Given the description of an element on the screen output the (x, y) to click on. 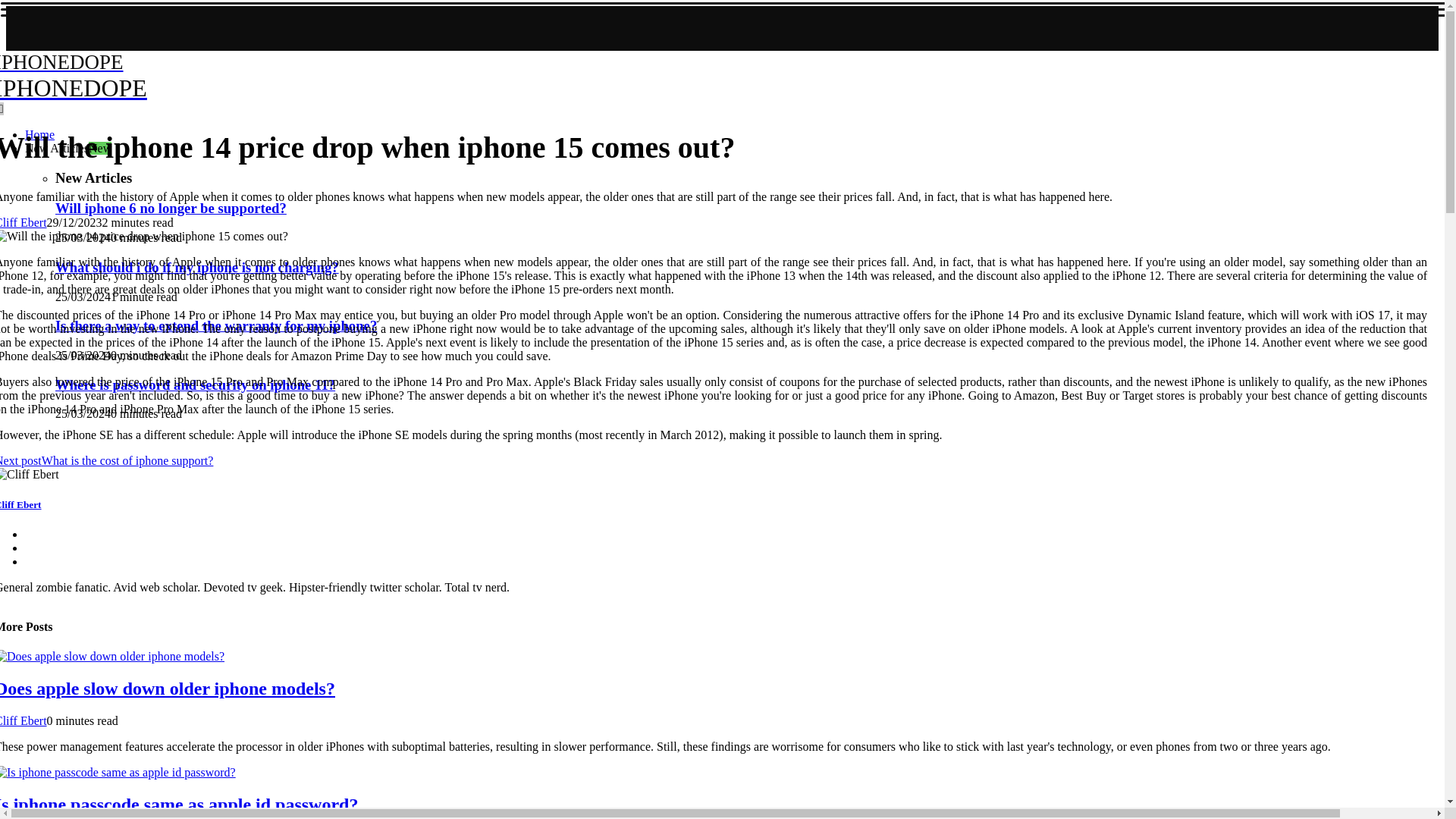
New ArticlesNew (188, 76)
Does apple slow down older iphone models? (68, 147)
Is iphone passcode same as apple id password? (167, 688)
Cliff Ebert (179, 804)
Cliff Ebert (21, 504)
Is there a way to extend the warranty for my iphone? (23, 720)
Cliff Ebert (216, 325)
Posts by Cliff Ebert (23, 222)
Home (23, 222)
